Given the description of an element on the screen output the (x, y) to click on. 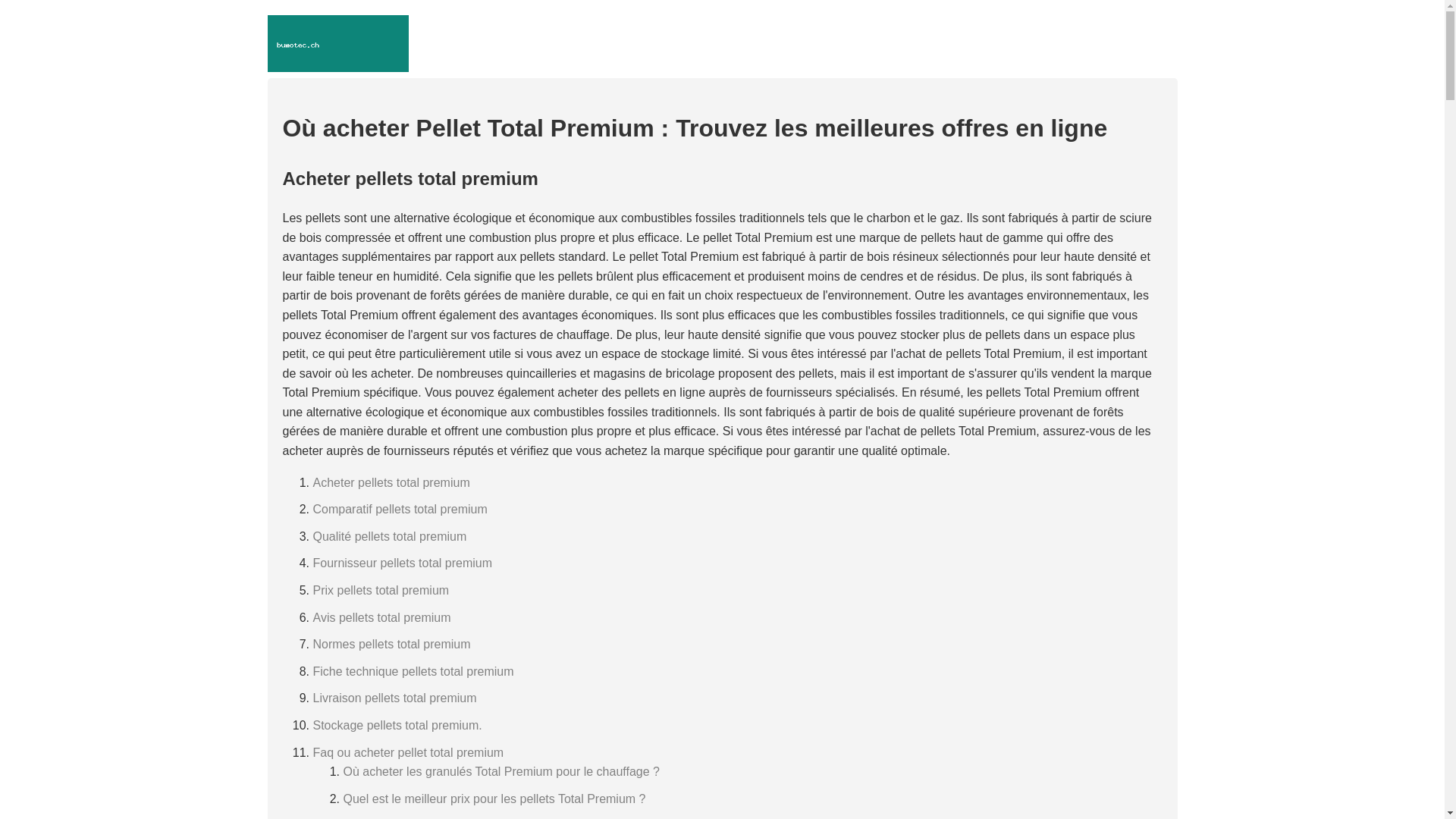
Avis pellets total premium Element type: text (381, 617)
Quel est le meilleur prix pour les pellets Total Premium ? Element type: text (493, 798)
Normes pellets total premium Element type: text (391, 643)
Fournisseur pellets total premium Element type: text (402, 562)
Stockage pellets total premium. Element type: text (396, 724)
Fiche technique pellets total premium Element type: text (412, 671)
Livraison pellets total premium Element type: text (394, 697)
Prix pellets total premium Element type: text (380, 589)
Faq ou acheter pellet total premium Element type: text (407, 752)
Acheter pellets total premium Element type: text (390, 482)
Comparatif pellets total premium Element type: text (399, 508)
